Given the description of an element on the screen output the (x, y) to click on. 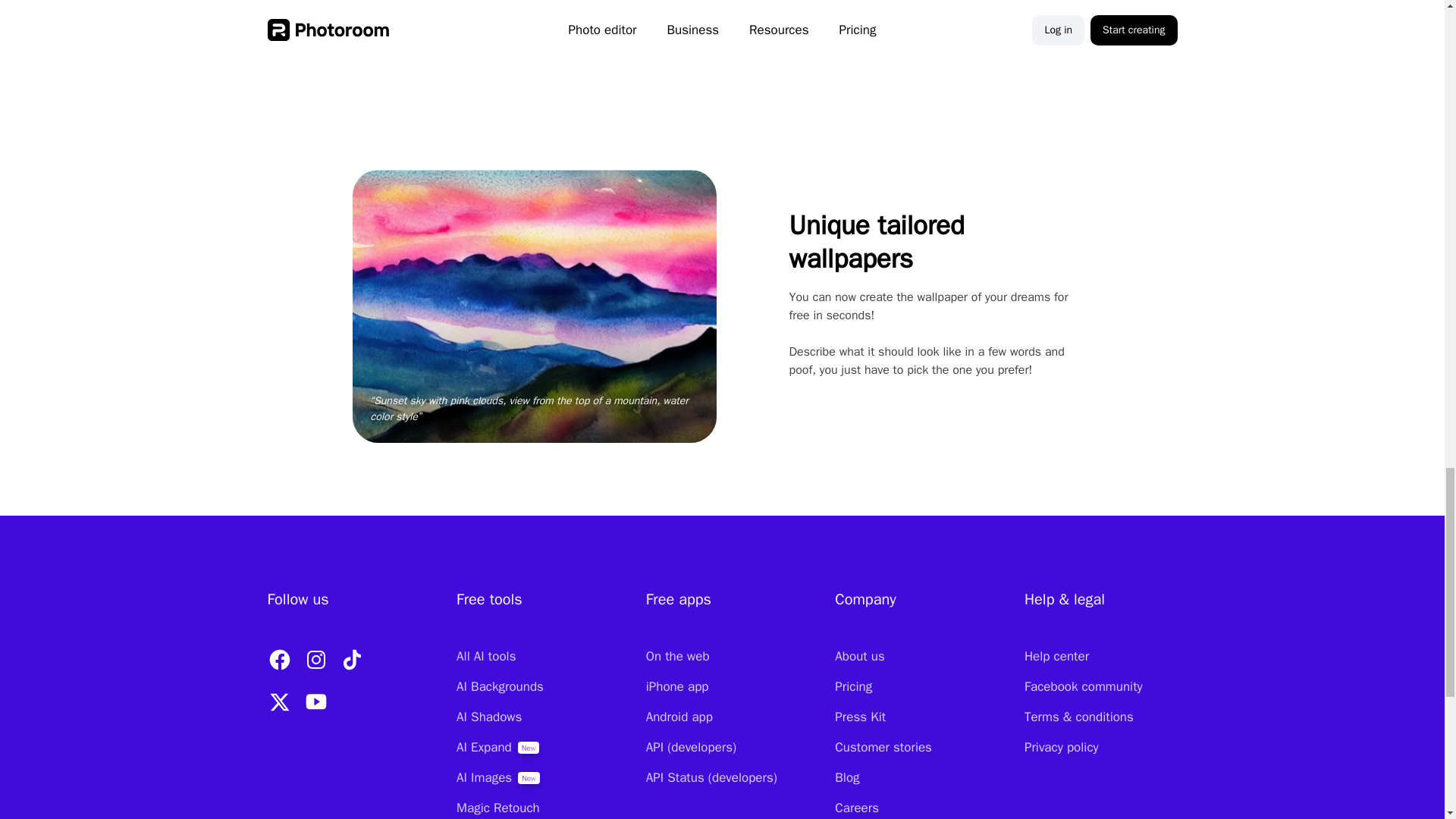
Facebook (278, 659)
YouTube (315, 701)
TikTok (351, 659)
X (278, 701)
Instagram (315, 659)
